Given the description of an element on the screen output the (x, y) to click on. 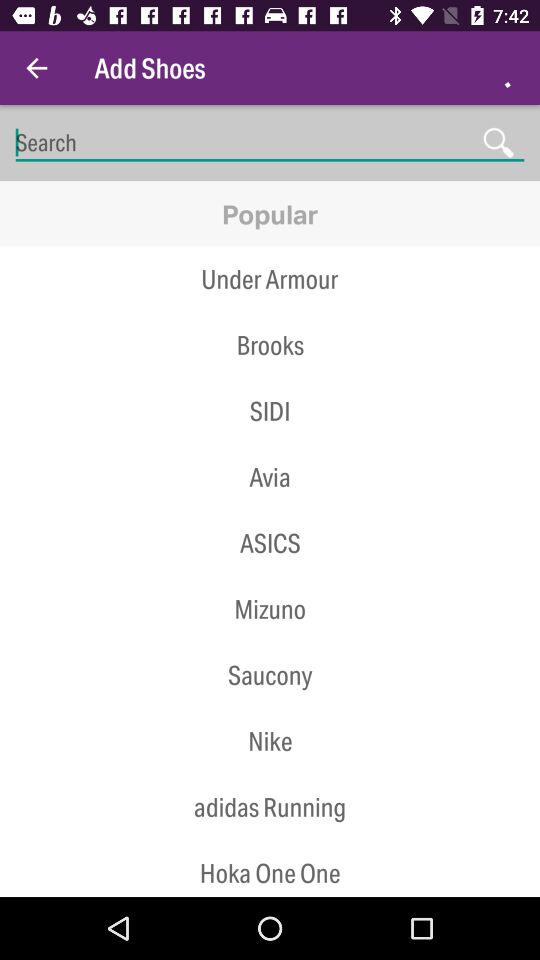
choose icon above the avia icon (270, 444)
